Given the description of an element on the screen output the (x, y) to click on. 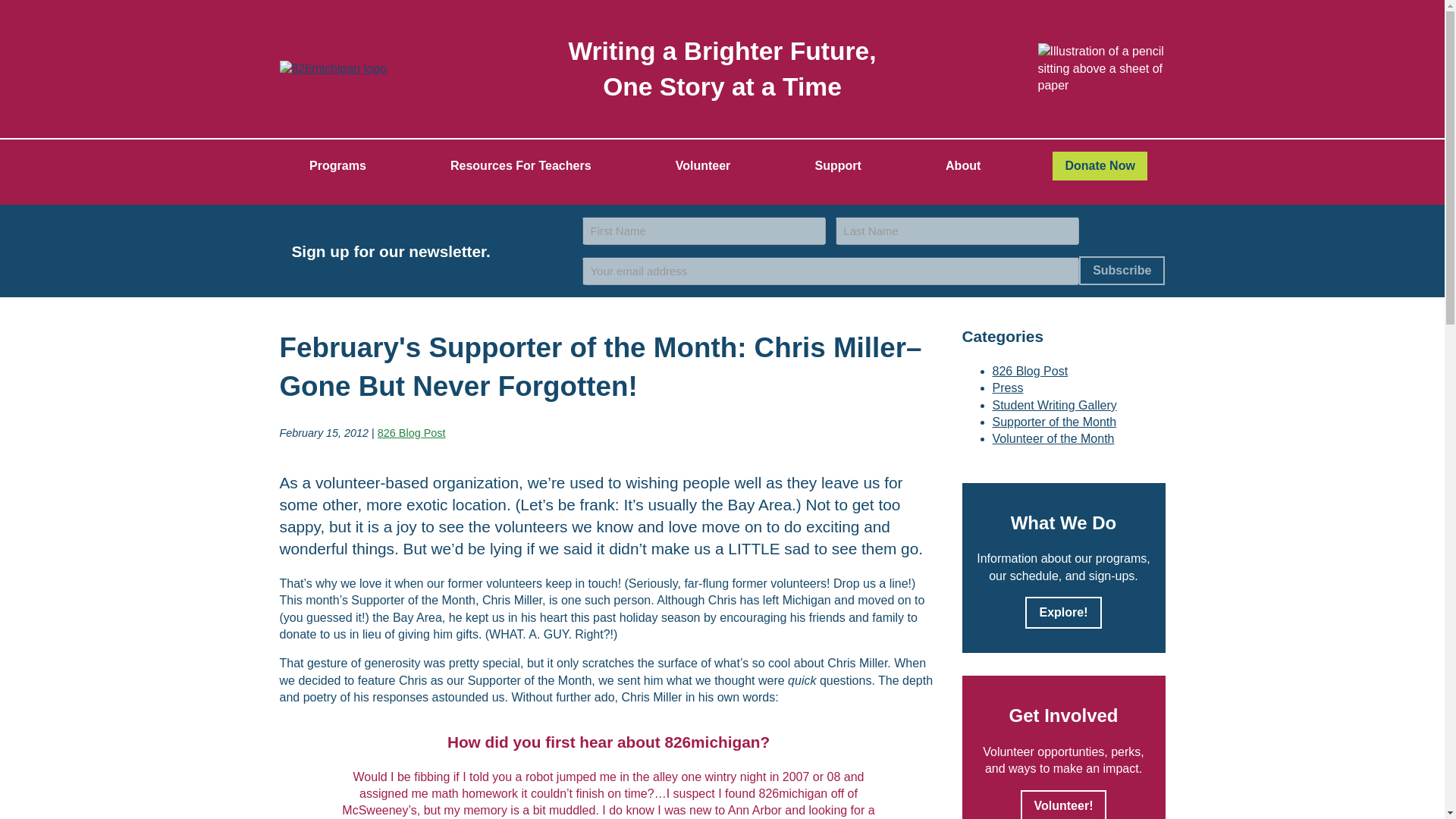
About (962, 165)
Resources For Teachers (521, 165)
Donate Now (1099, 165)
Programs (337, 165)
Volunteer (702, 165)
Support (838, 165)
Subscribe (1121, 270)
